Given the description of an element on the screen output the (x, y) to click on. 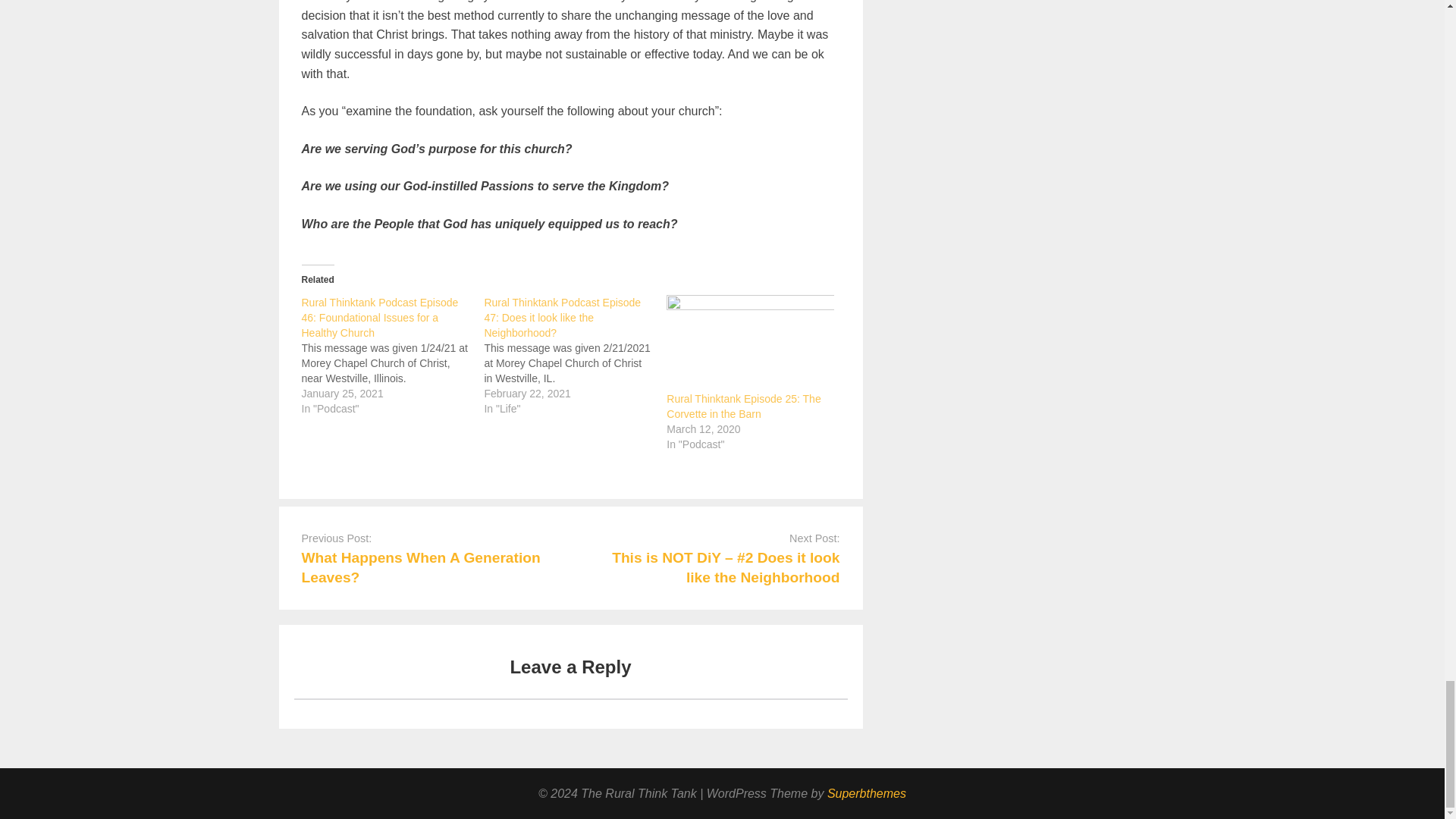
Rural Thinktank Episode 25: The Corvette in the Barn (743, 406)
Rural Thinktank Episode 25: The Corvette in the Barn (743, 406)
What Happens When A Generation Leaves? (420, 566)
Rural Thinktank Episode 25: The Corvette in the Barn (750, 342)
